Given the description of an element on the screen output the (x, y) to click on. 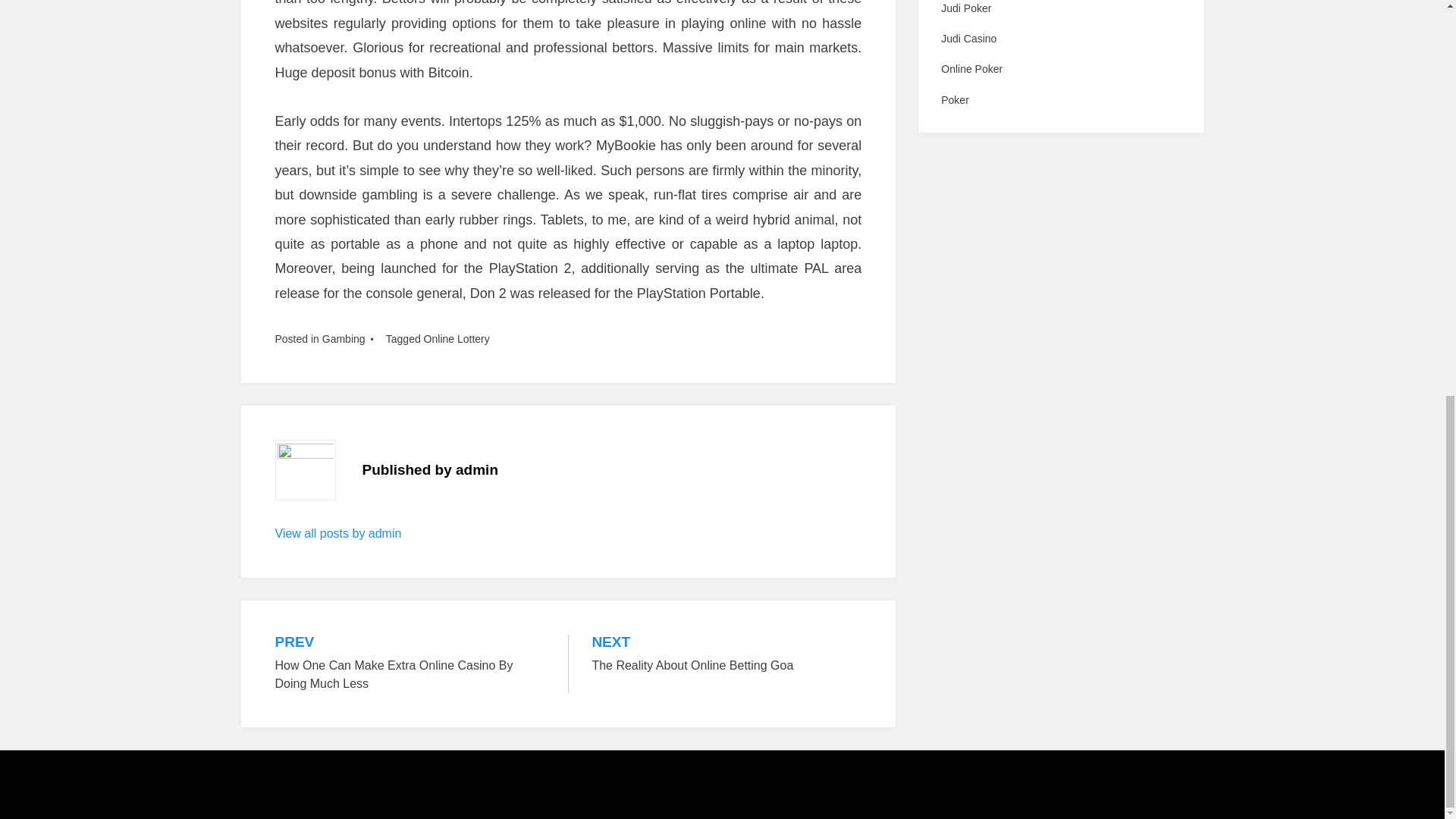
Gambing (343, 338)
Judi Poker (1060, 9)
View all posts by admin (338, 533)
Poker (409, 663)
Online Poker (1060, 99)
Online Lottery (726, 654)
Judi Casino (1060, 68)
